Given the description of an element on the screen output the (x, y) to click on. 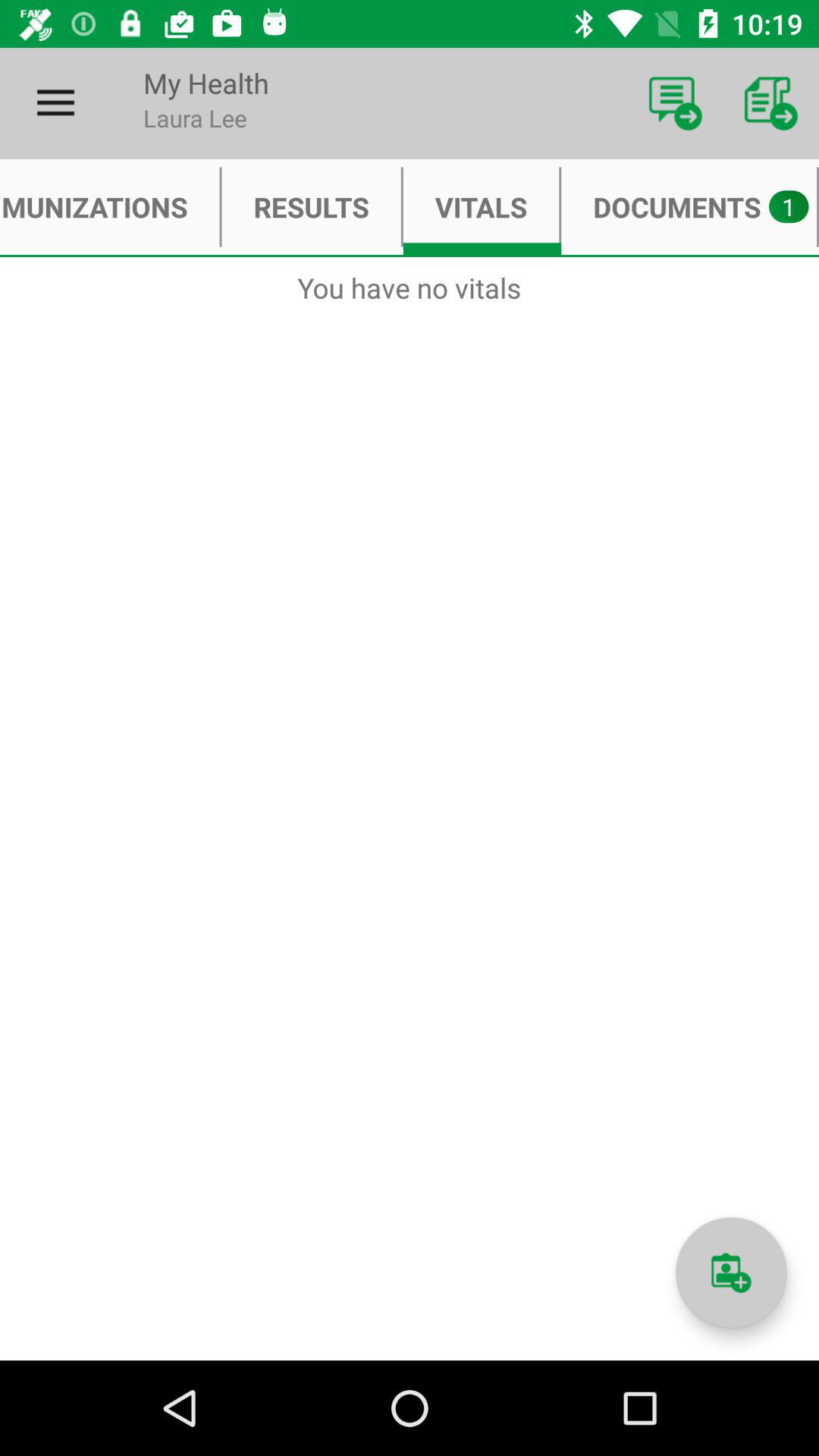
turn off the icon at the bottom right corner (731, 1272)
